Given the description of an element on the screen output the (x, y) to click on. 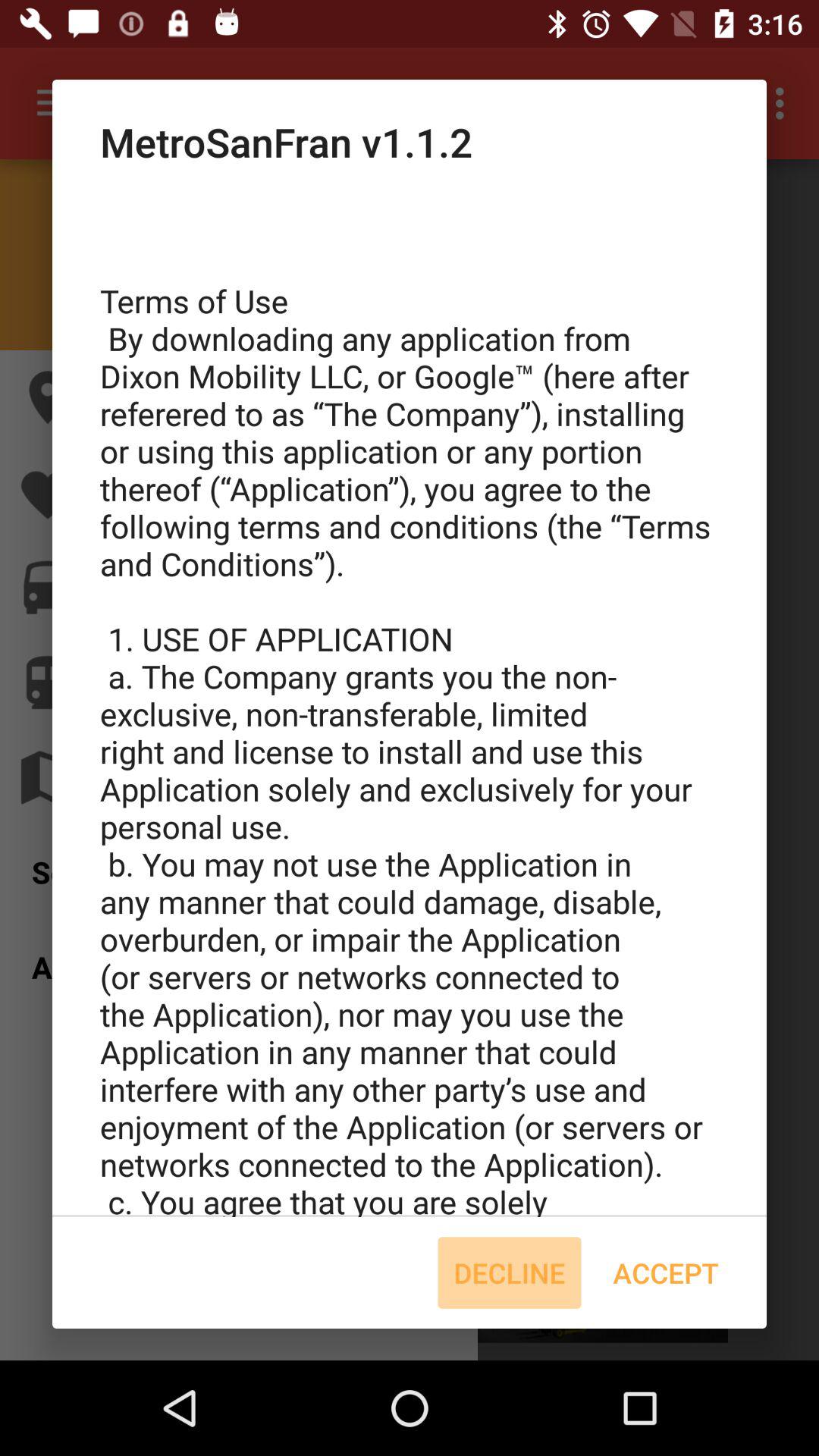
flip until accept (665, 1272)
